Given the description of an element on the screen output the (x, y) to click on. 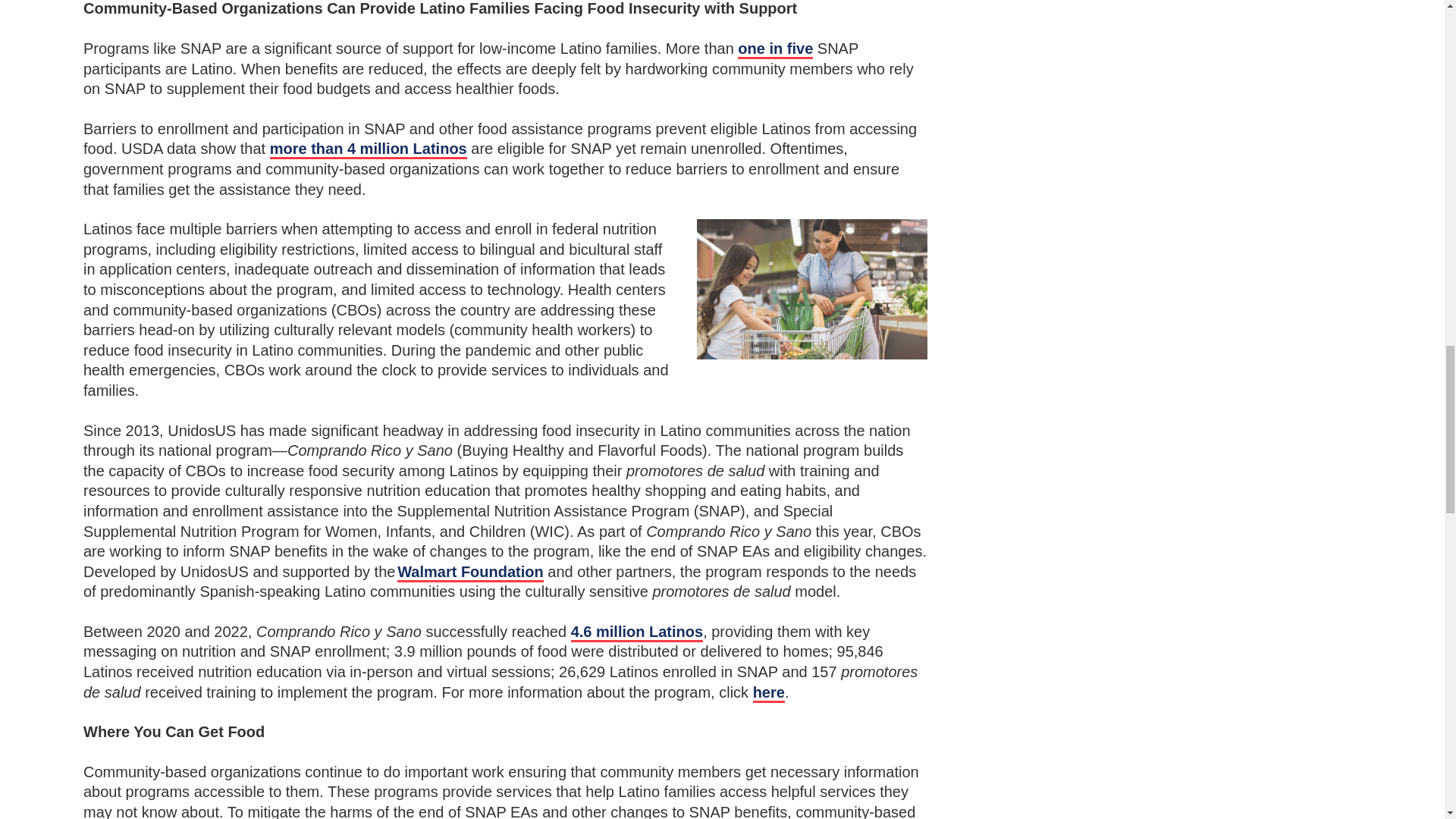
here (768, 692)
4.6 million Latinos (636, 632)
one in five (775, 49)
Walmart Foundation (470, 572)
more than 4 million Latinos (368, 149)
